Given the description of an element on the screen output the (x, y) to click on. 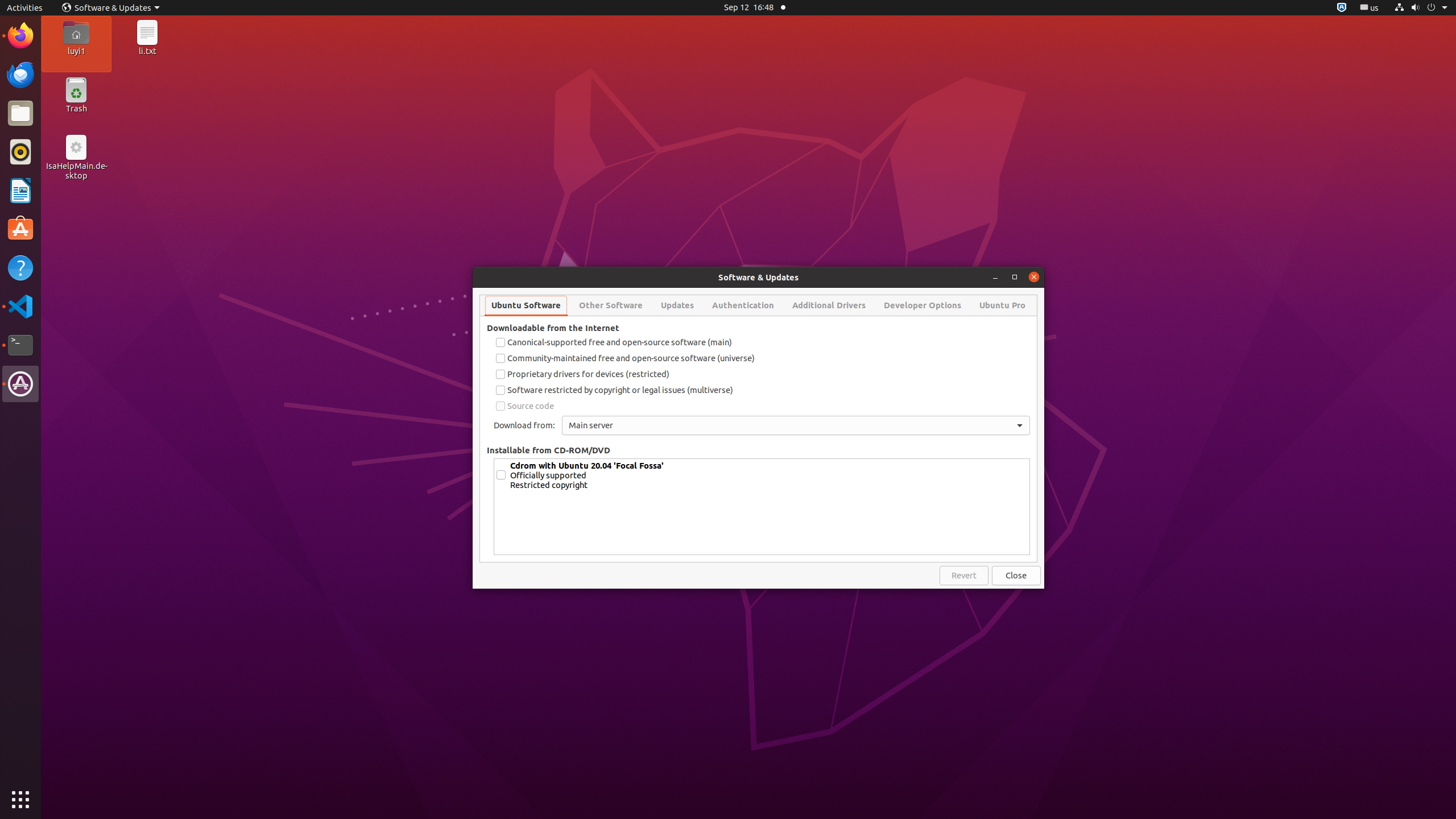
Installable from CD-ROM/DVD Element type: label (548, 450)
Additional Drivers Element type: page-tab (828, 304)
Ubuntu Pro Element type: page-tab (1002, 304)
